Given the description of an element on the screen output the (x, y) to click on. 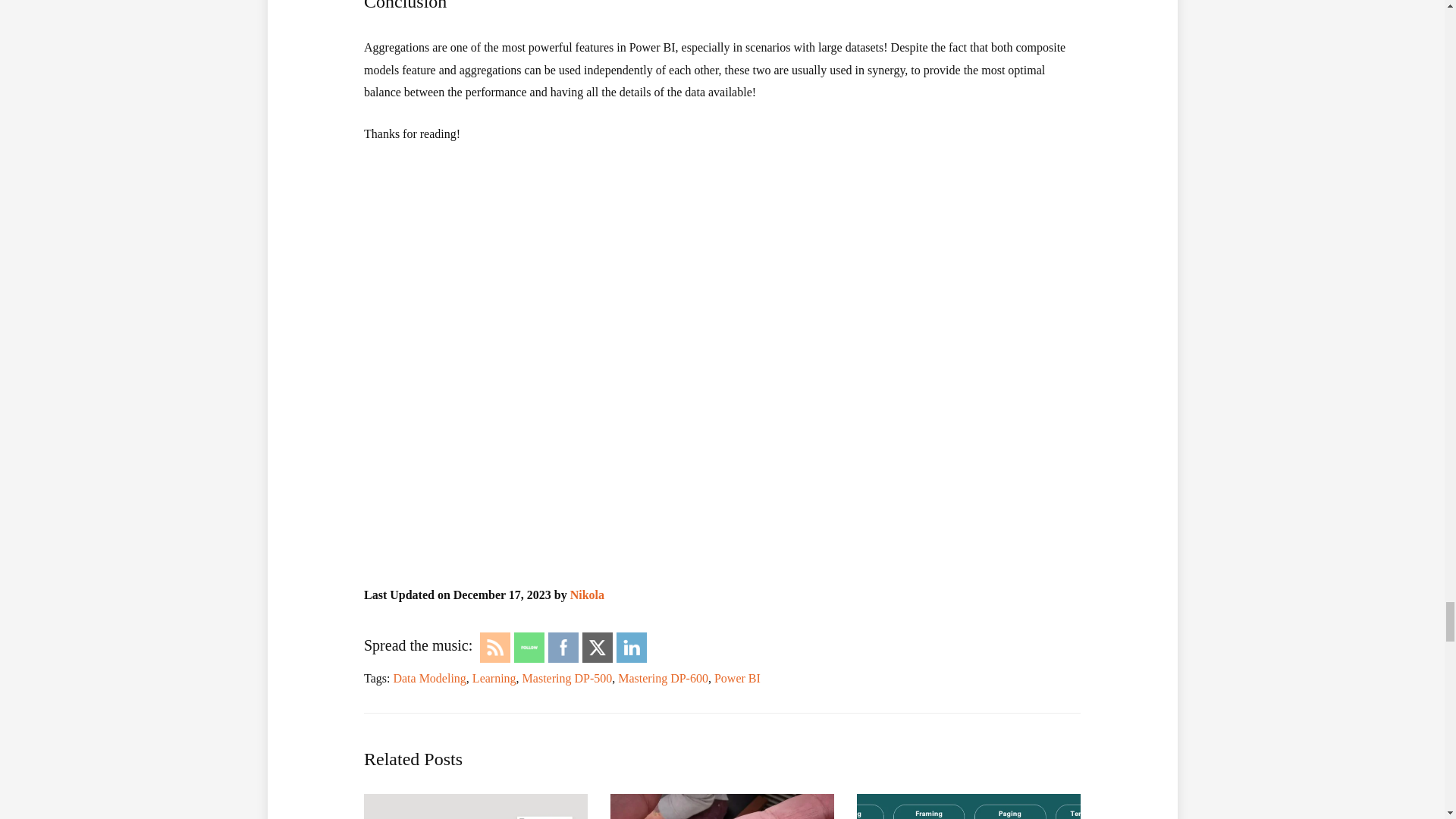
Twitter (597, 647)
RSS (494, 647)
LinkedIn (631, 647)
Facebook (563, 647)
Follow by Email (529, 647)
